Given the description of an element on the screen output the (x, y) to click on. 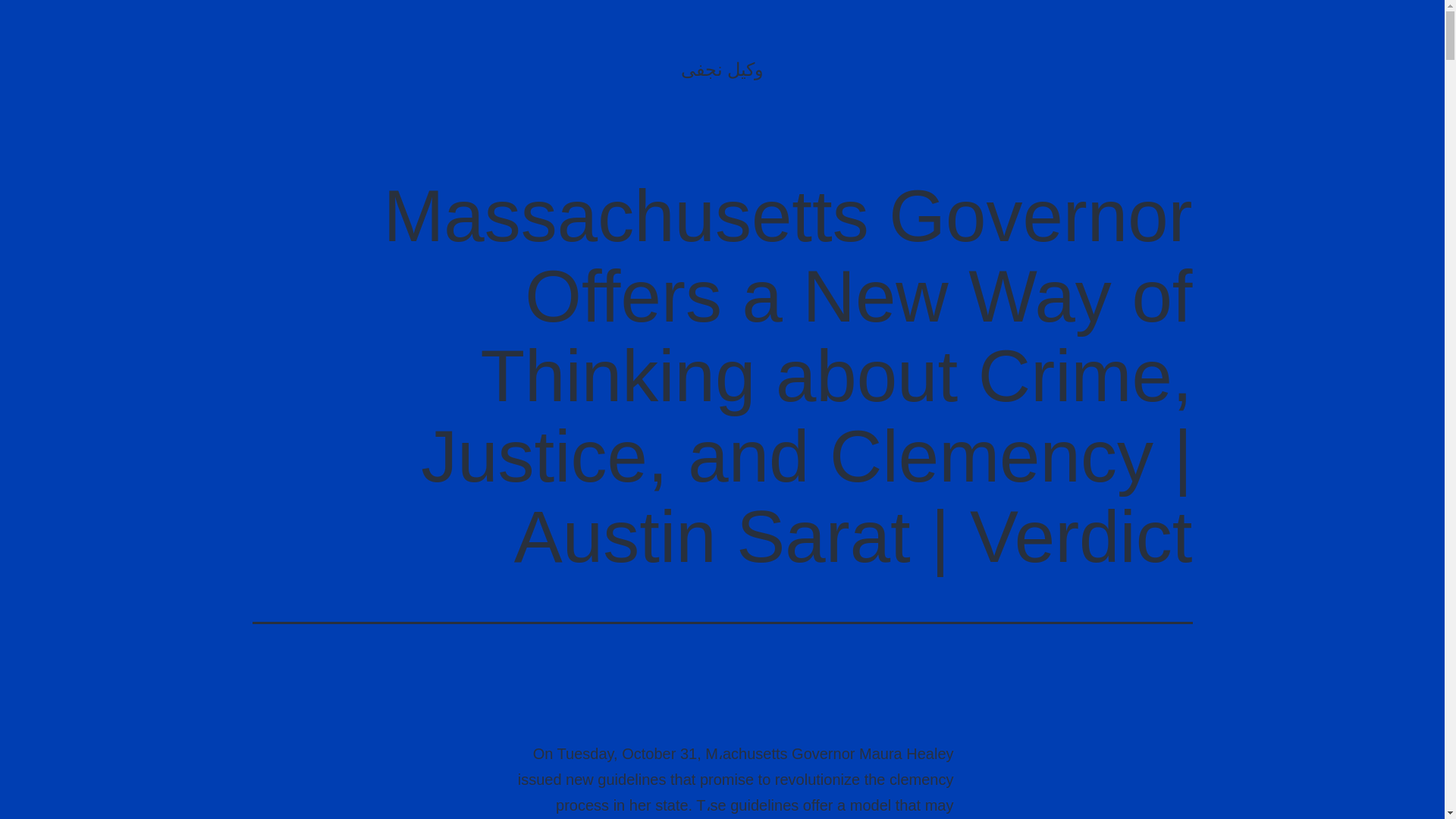
issued new guidelines (592, 779)
